Given the description of an element on the screen output the (x, y) to click on. 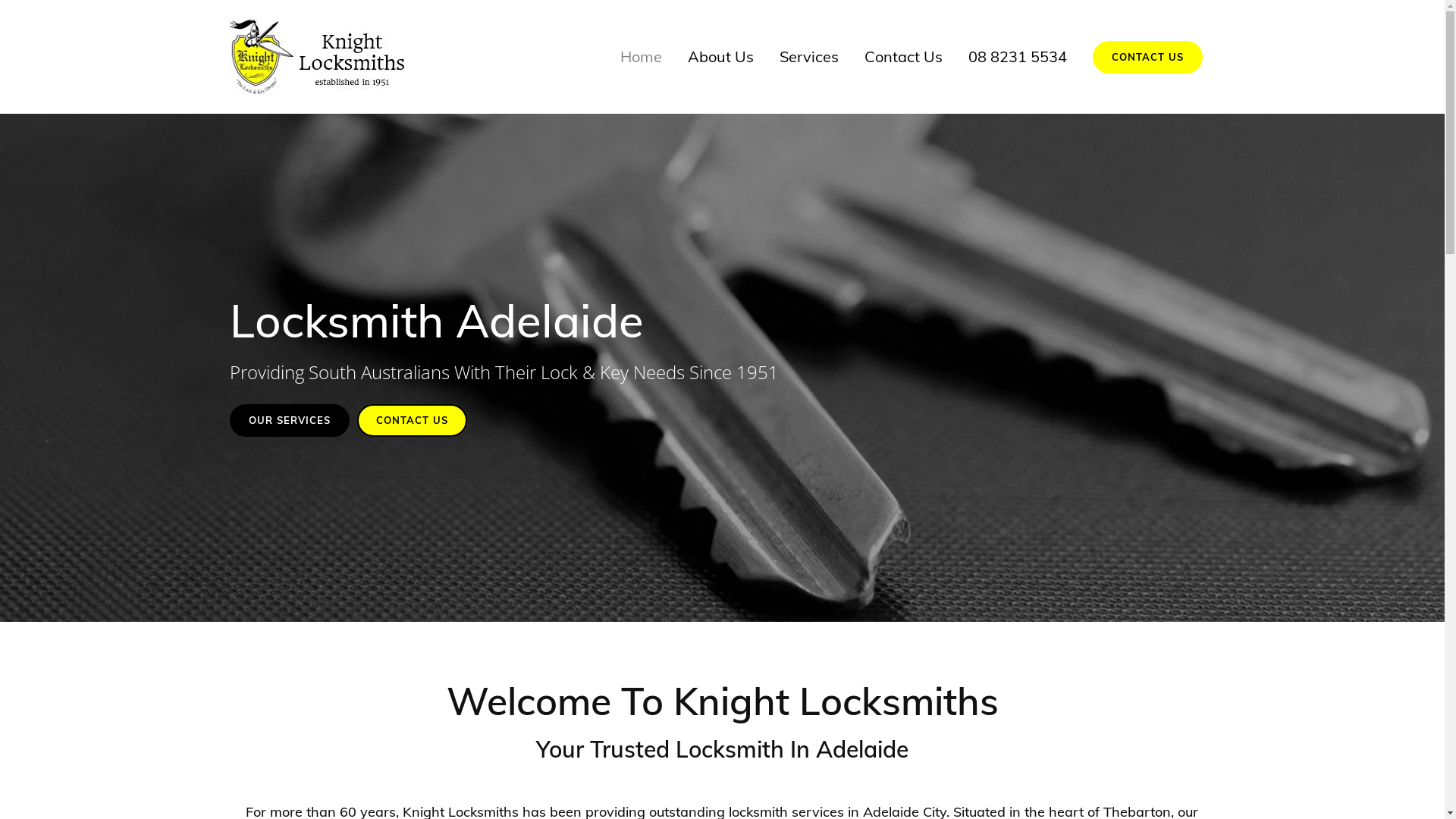
Contact Us Element type: text (902, 56)
CONTACT US Element type: text (411, 420)
08 8231 5534 Element type: text (1017, 56)
OUR SERVICES Element type: text (288, 420)
Services Element type: text (807, 56)
Home Element type: text (640, 56)
About Us Element type: text (720, 56)
CONTACT US Element type: text (1146, 56)
